Given the description of an element on the screen output the (x, y) to click on. 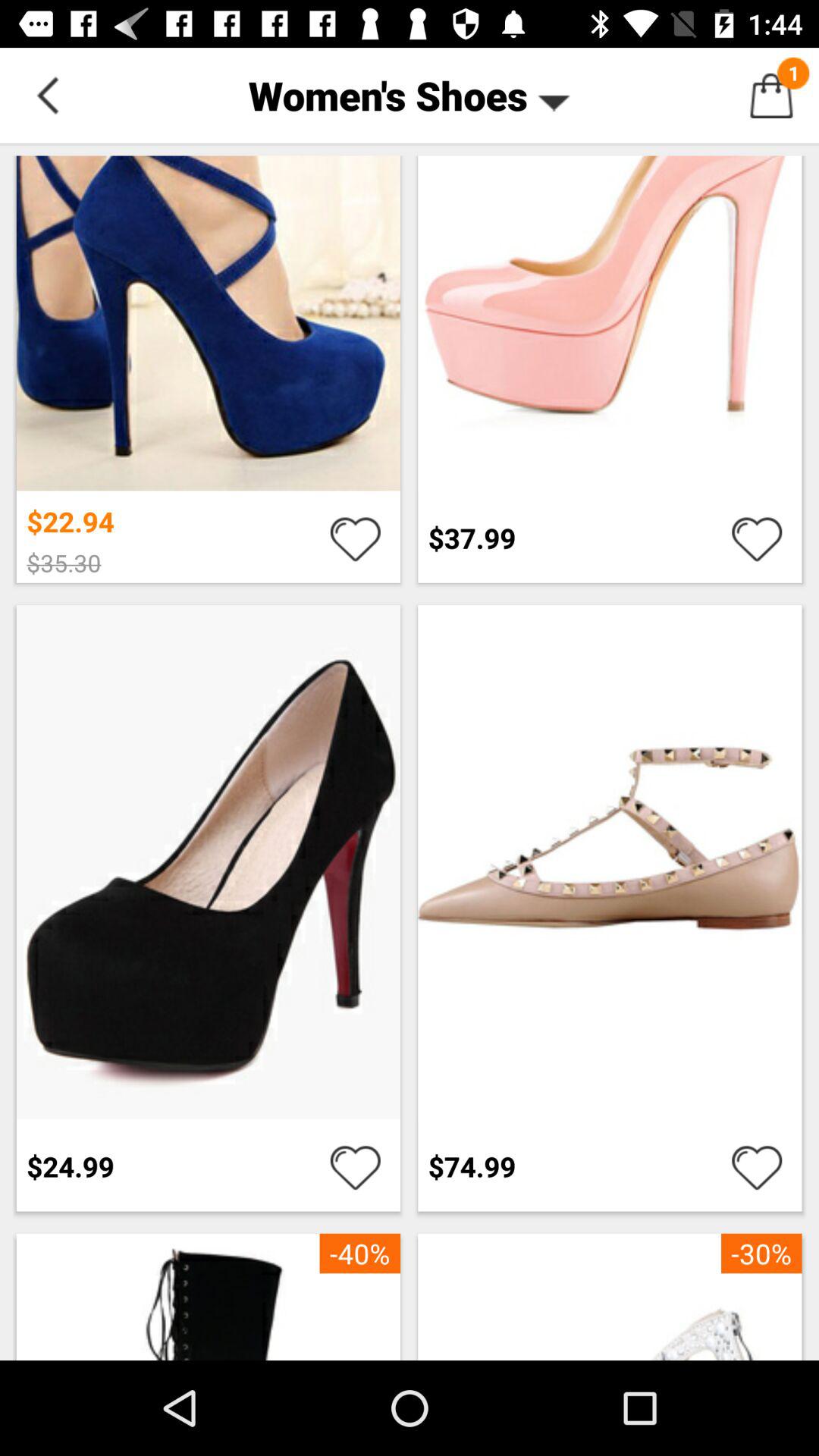
tap to like the image (756, 1166)
